Given the description of an element on the screen output the (x, y) to click on. 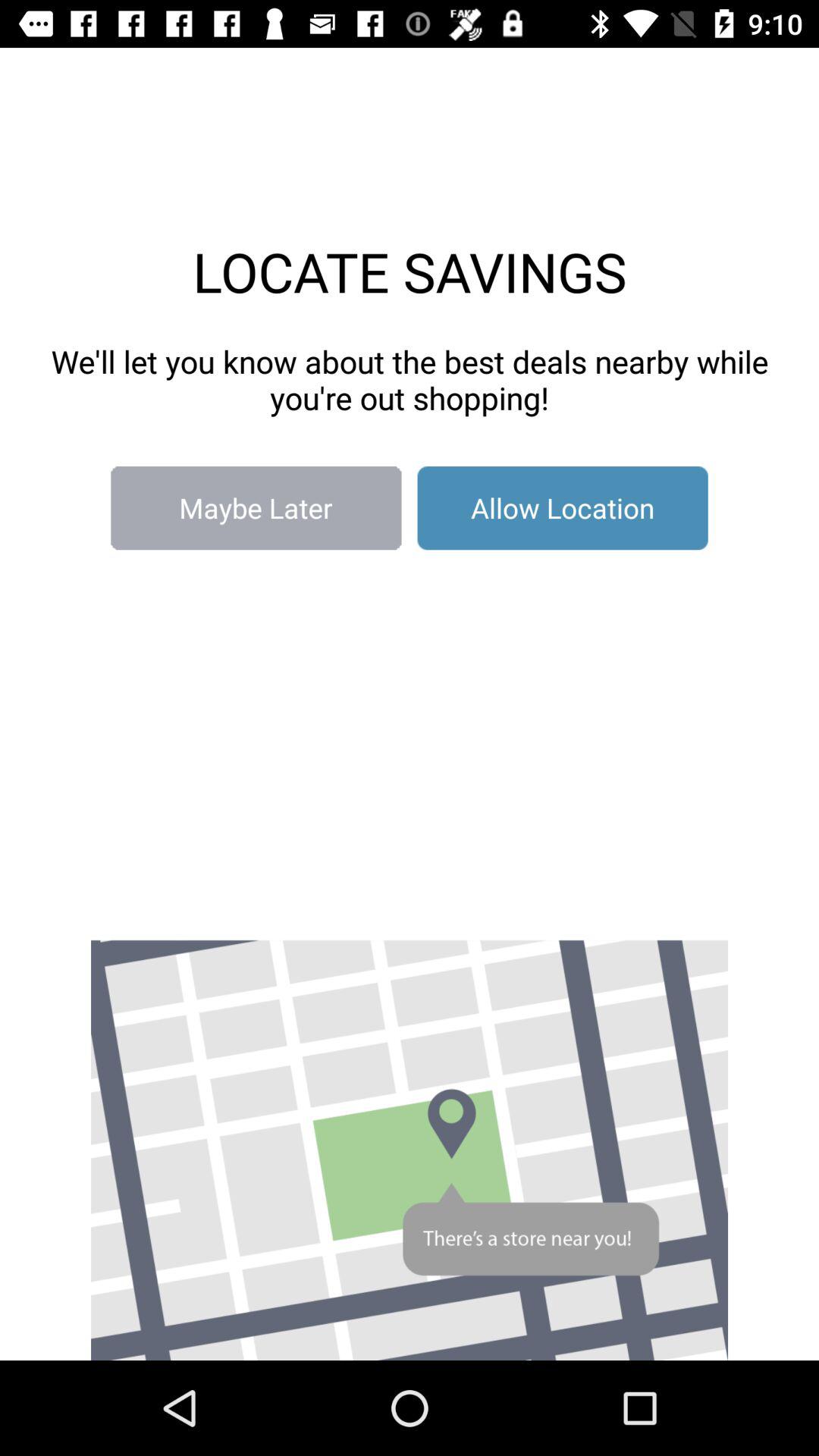
select the allow location on the right (562, 507)
